Given the description of an element on the screen output the (x, y) to click on. 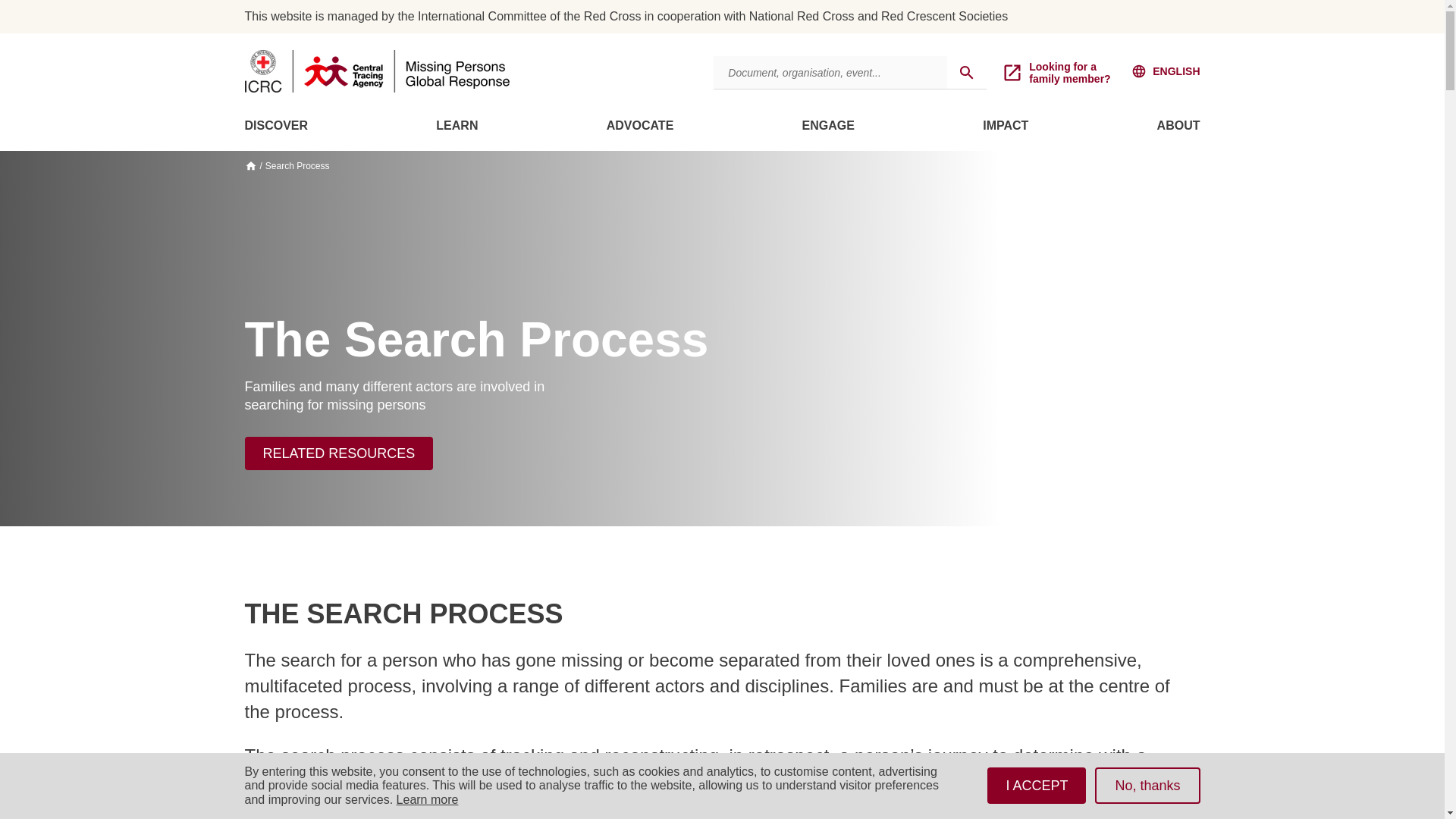
ENGLISH (1165, 70)
Looking for a family member? (1063, 72)
